Given the description of an element on the screen output the (x, y) to click on. 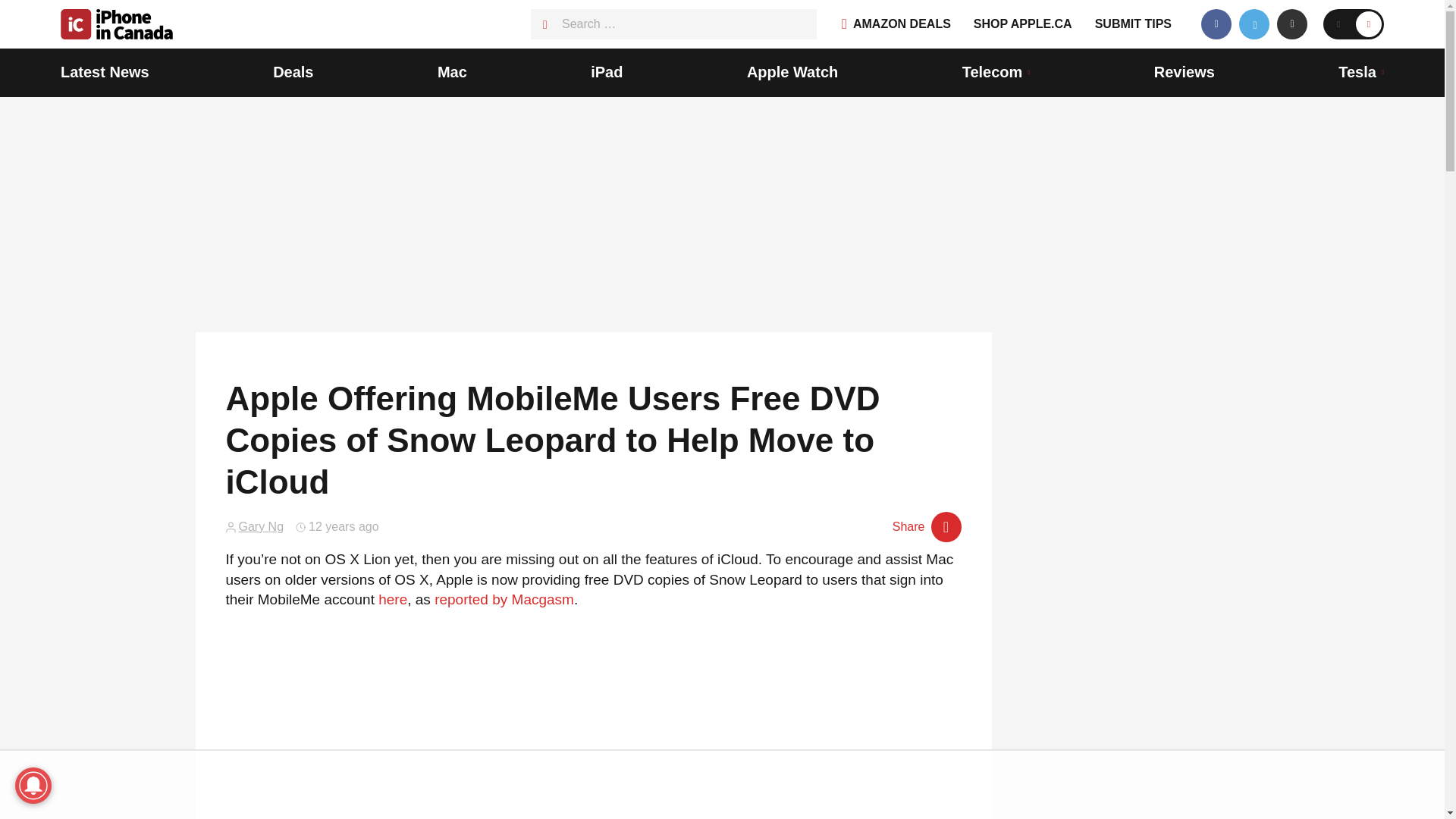
Share (926, 526)
reported by Macgasm (503, 599)
Gary Ng (260, 526)
Reviews (1184, 72)
Search for: (673, 24)
Apple Watch (792, 72)
here (392, 599)
Latest News (105, 72)
AMAZON DEALS (895, 23)
